Given the description of an element on the screen output the (x, y) to click on. 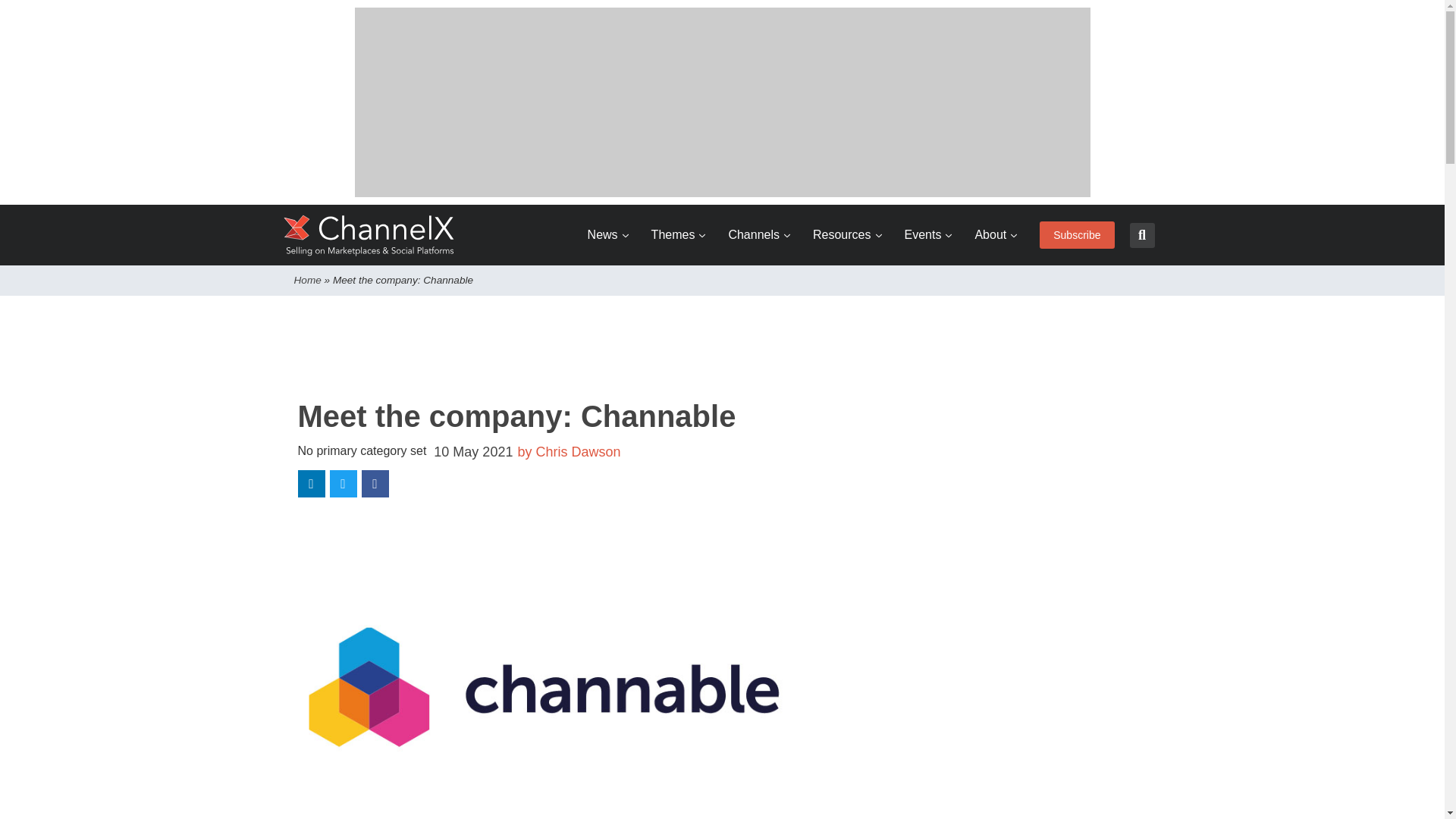
News (607, 234)
Themes (678, 234)
Channels (758, 234)
ChannelX Home Page (369, 234)
Resources (846, 234)
